Given the description of an element on the screen output the (x, y) to click on. 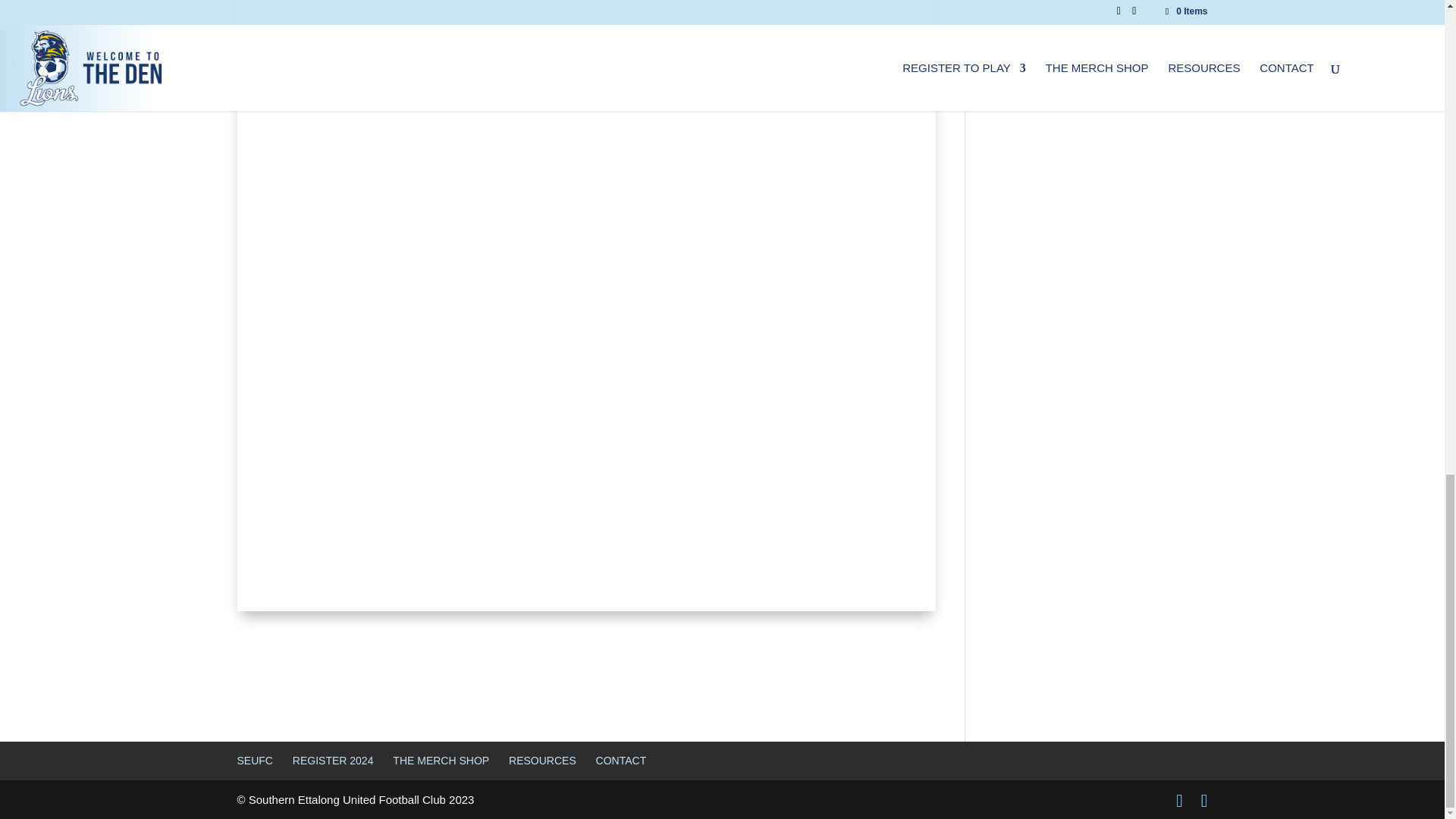
REGISTER 2024 (333, 760)
CONTACT (620, 760)
THE MERCH SHOP (441, 760)
SEUFC (253, 760)
RESOURCES (542, 760)
